Given the description of an element on the screen output the (x, y) to click on. 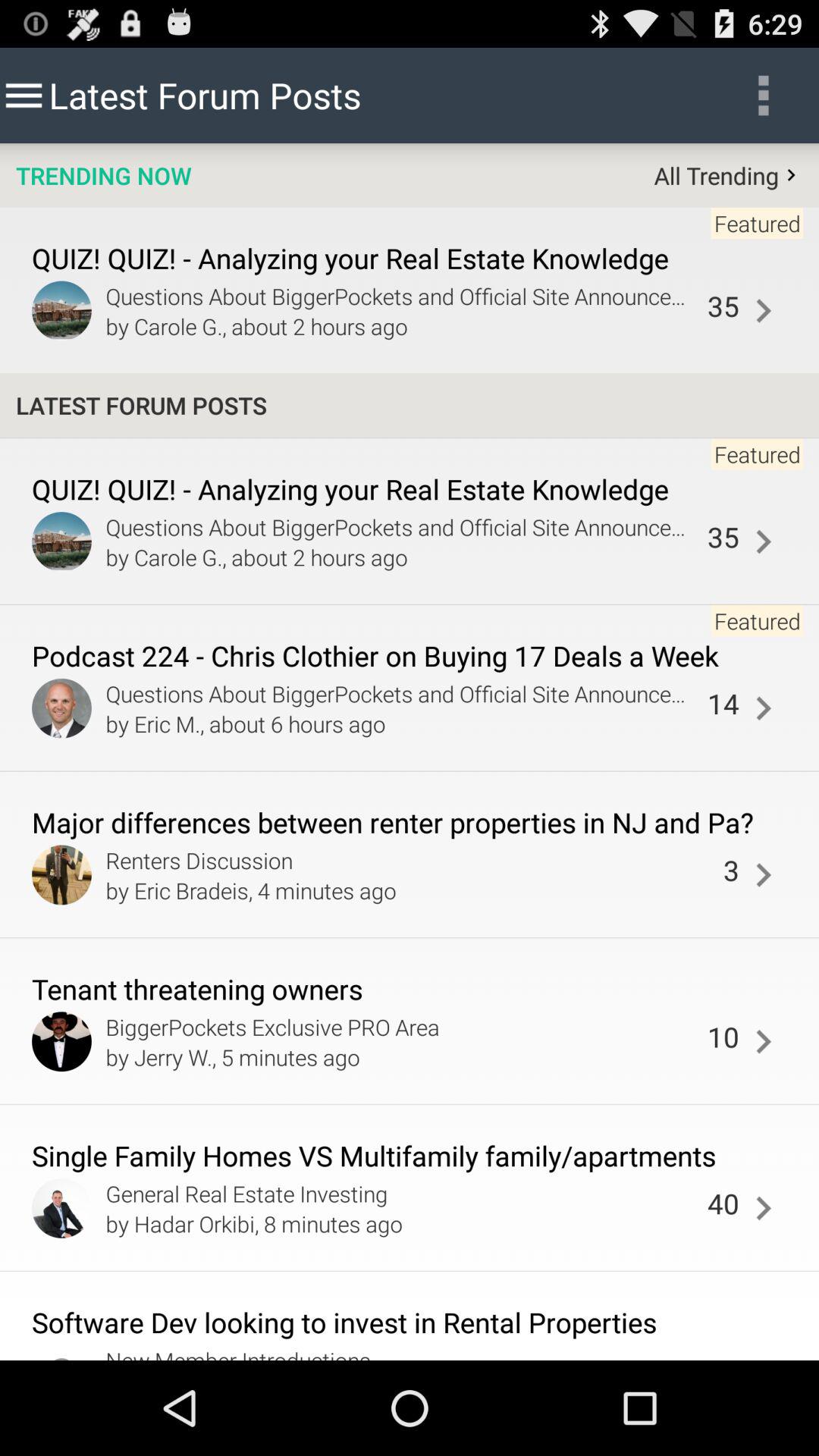
press app below major differences between app (410, 860)
